Given the description of an element on the screen output the (x, y) to click on. 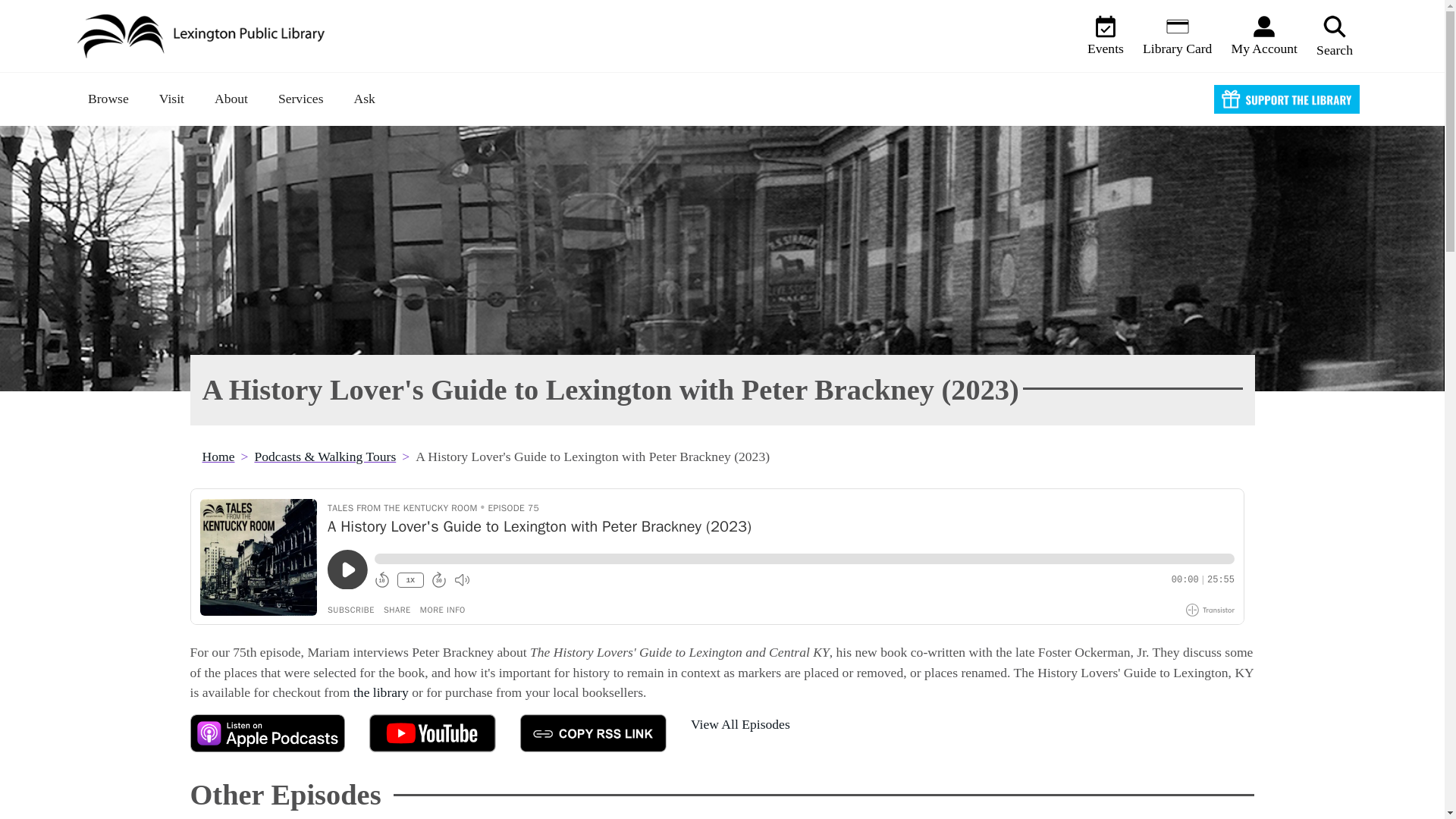
Home (206, 35)
